Given the description of an element on the screen output the (x, y) to click on. 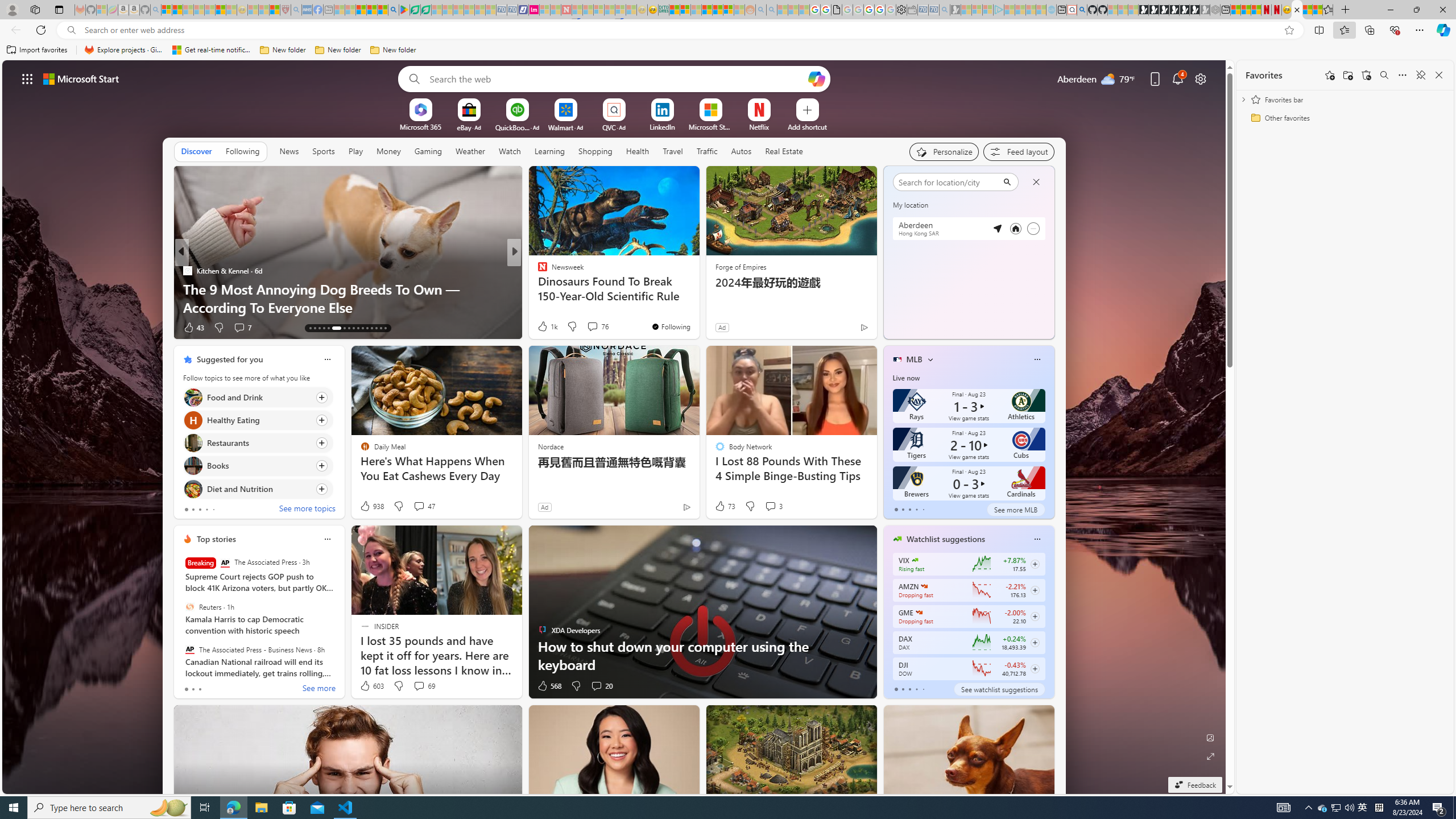
97 Like (543, 327)
View comments 76 Comment (597, 326)
AutomationID: tab-24 (366, 328)
View comments 257 Comment (599, 327)
803 Like (545, 327)
Bluey: Let's Play! - Apps on Google Play (404, 9)
AutomationID: tab-23 (362, 328)
View comments 20 Comment (595, 685)
View comments 9 Comment (589, 327)
